Given the description of an element on the screen output the (x, y) to click on. 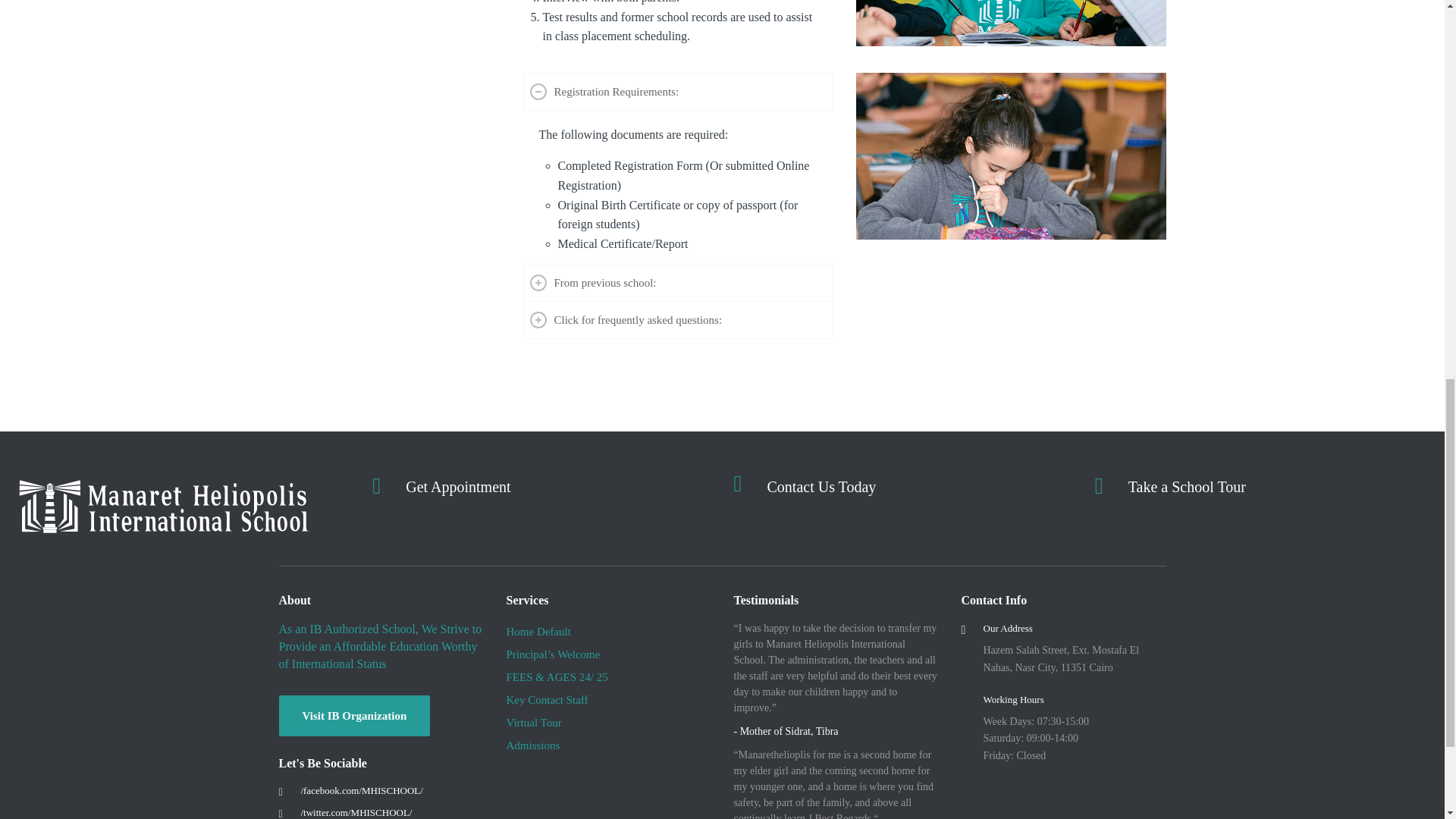
Contact (821, 486)
Manaret Heliopolis International School (360, 790)
Contact (458, 486)
Manaret Heliopolis International School (355, 812)
Virtual Tour (1187, 486)
